Given the description of an element on the screen output the (x, y) to click on. 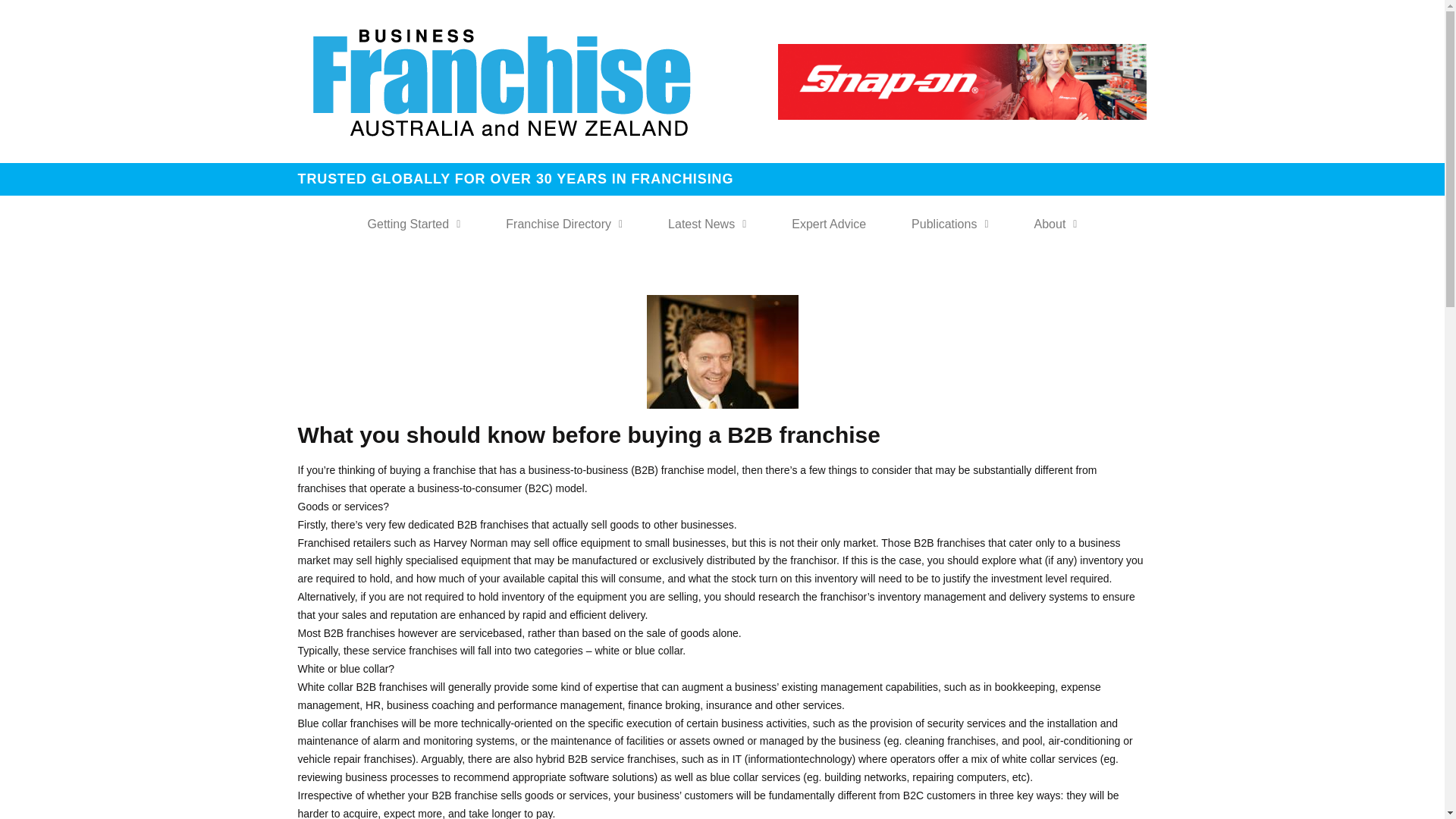
Expert Advice (828, 224)
Publications (949, 224)
Latest News (706, 224)
Franchise Directory (564, 224)
About (1055, 224)
Getting Started (414, 224)
